Given the description of an element on the screen output the (x, y) to click on. 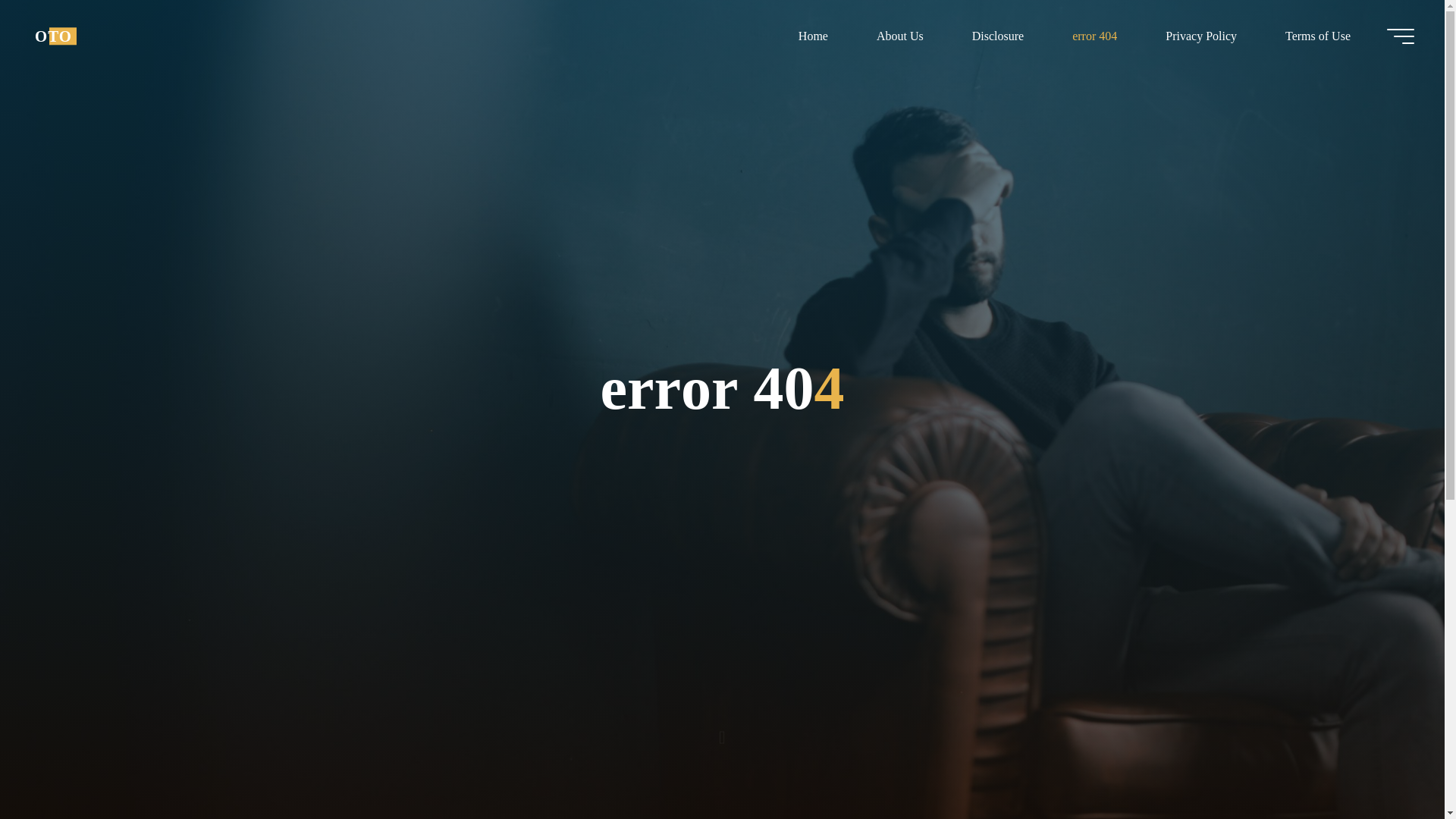
error 404 (1094, 35)
Privacy Policy (1200, 35)
Disclosure (997, 35)
Read more (721, 724)
About Us (899, 35)
Terms of Use (1317, 35)
OTO (53, 36)
Home (812, 35)
